Given the description of an element on the screen output the (x, y) to click on. 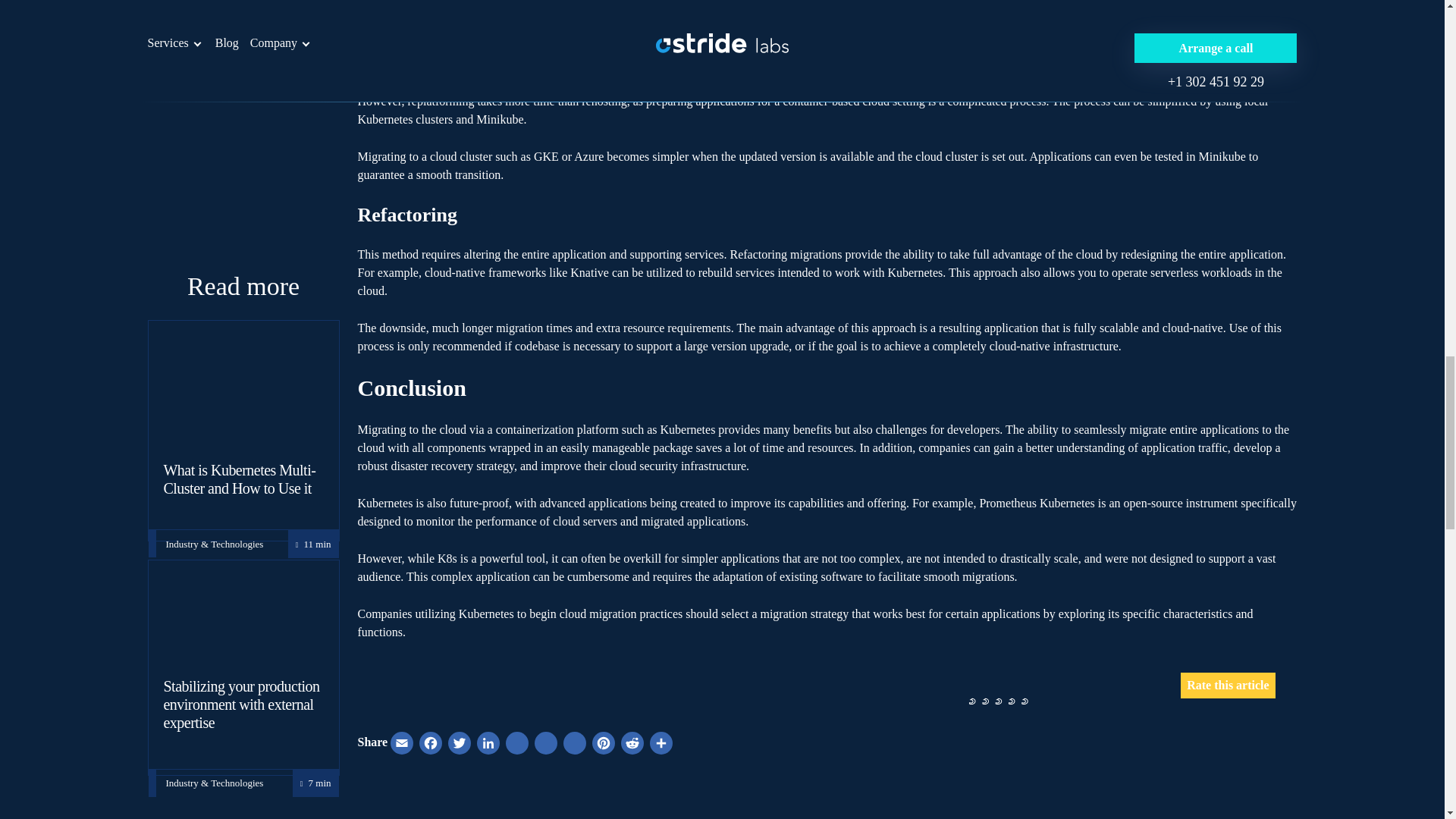
Facebook (430, 746)
Pinterest (603, 746)
Telegram (545, 746)
Viber (574, 746)
Pinterest (603, 746)
Viber (574, 746)
LinkedIn (488, 746)
Twitter (459, 746)
Share (660, 746)
LinkedIn (488, 746)
